Given the description of an element on the screen output the (x, y) to click on. 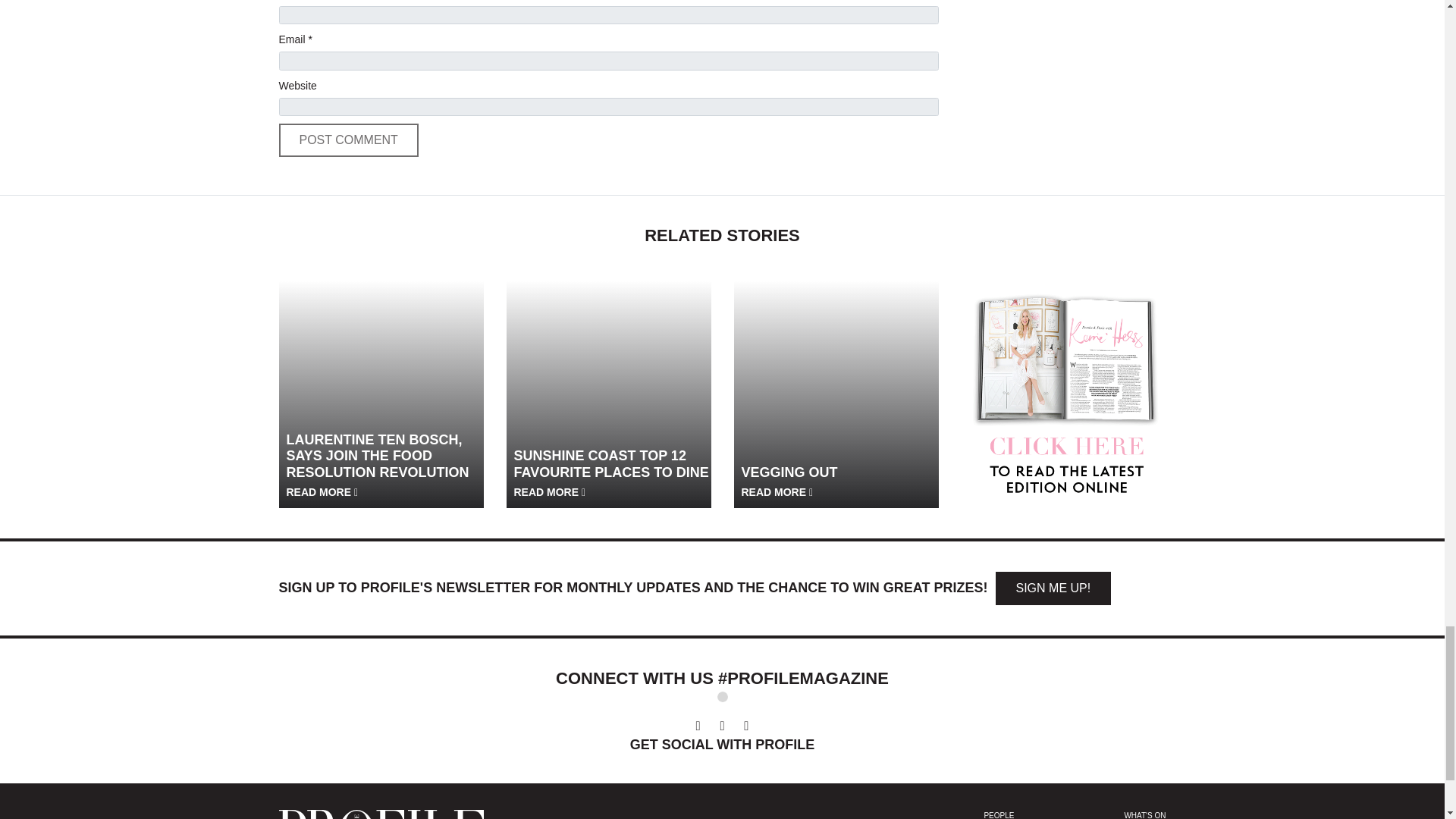
Vegging Out (836, 382)
Sunshine Coast Top 12 favourite places to dine (608, 382)
READ MORE (322, 491)
READ MORE (549, 491)
Post Comment (349, 140)
Post Comment (349, 140)
subscribe to our newsletter (1052, 588)
SUNSHINE COAST TOP 12 FAVOURITE PLACES TO DINE (613, 472)
